Given the description of an element on the screen output the (x, y) to click on. 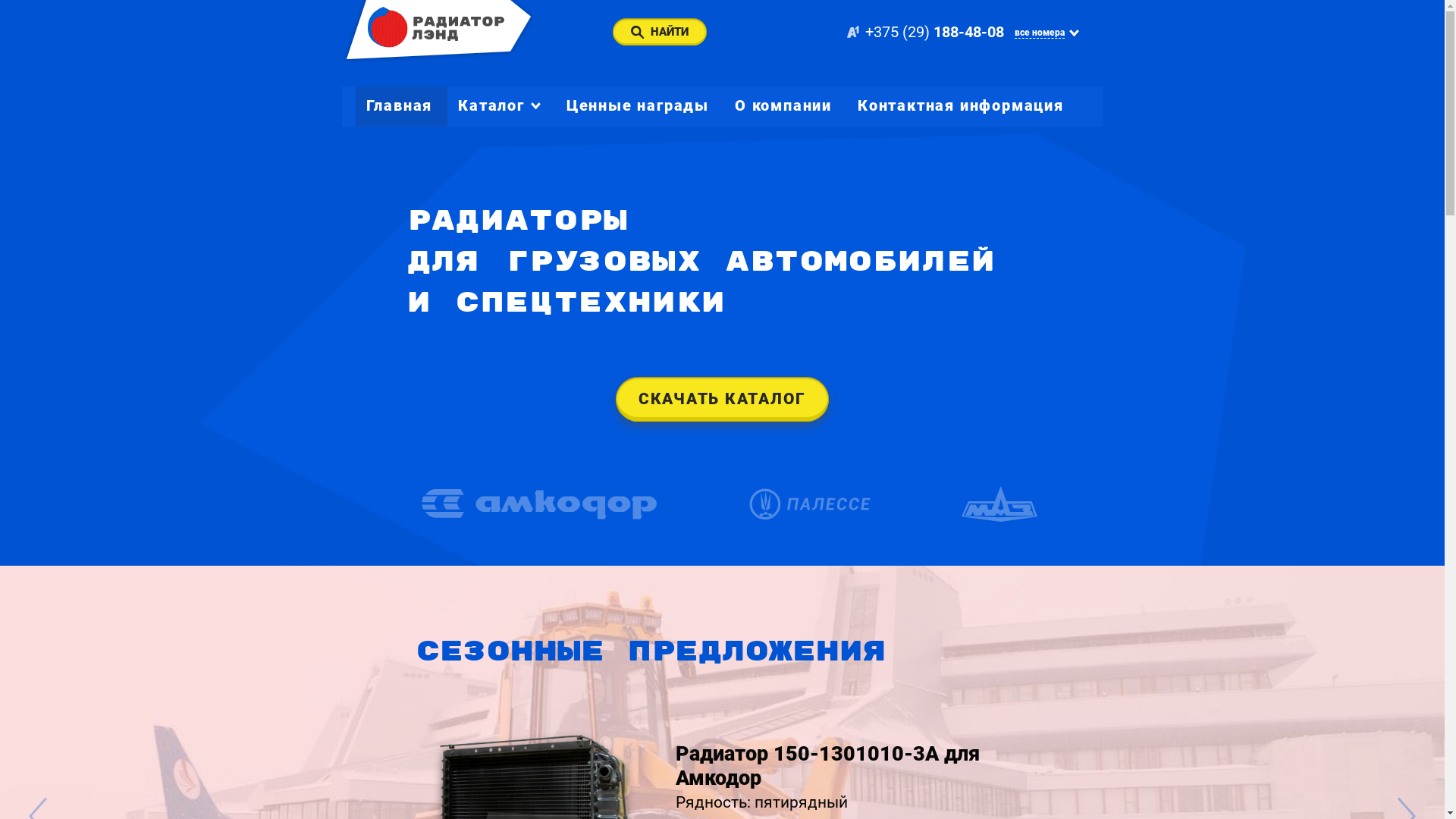
+375 (29) 188-48-08 Element type: text (924, 31)
